Given the description of an element on the screen output the (x, y) to click on. 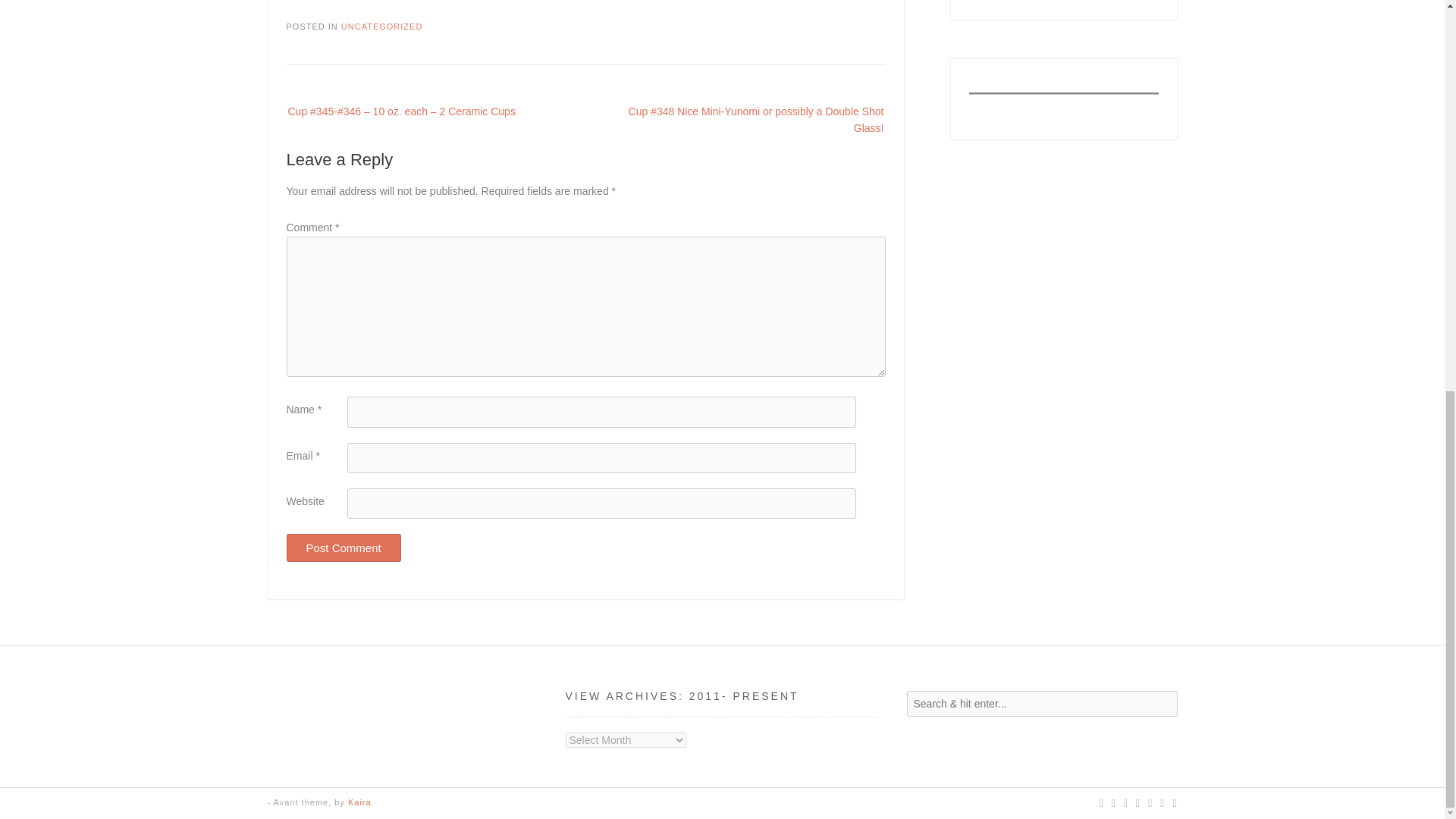
UNCATEGORIZED (381, 26)
Post Comment (343, 547)
Kaira (359, 801)
Post Comment (343, 547)
